Given the description of an element on the screen output the (x, y) to click on. 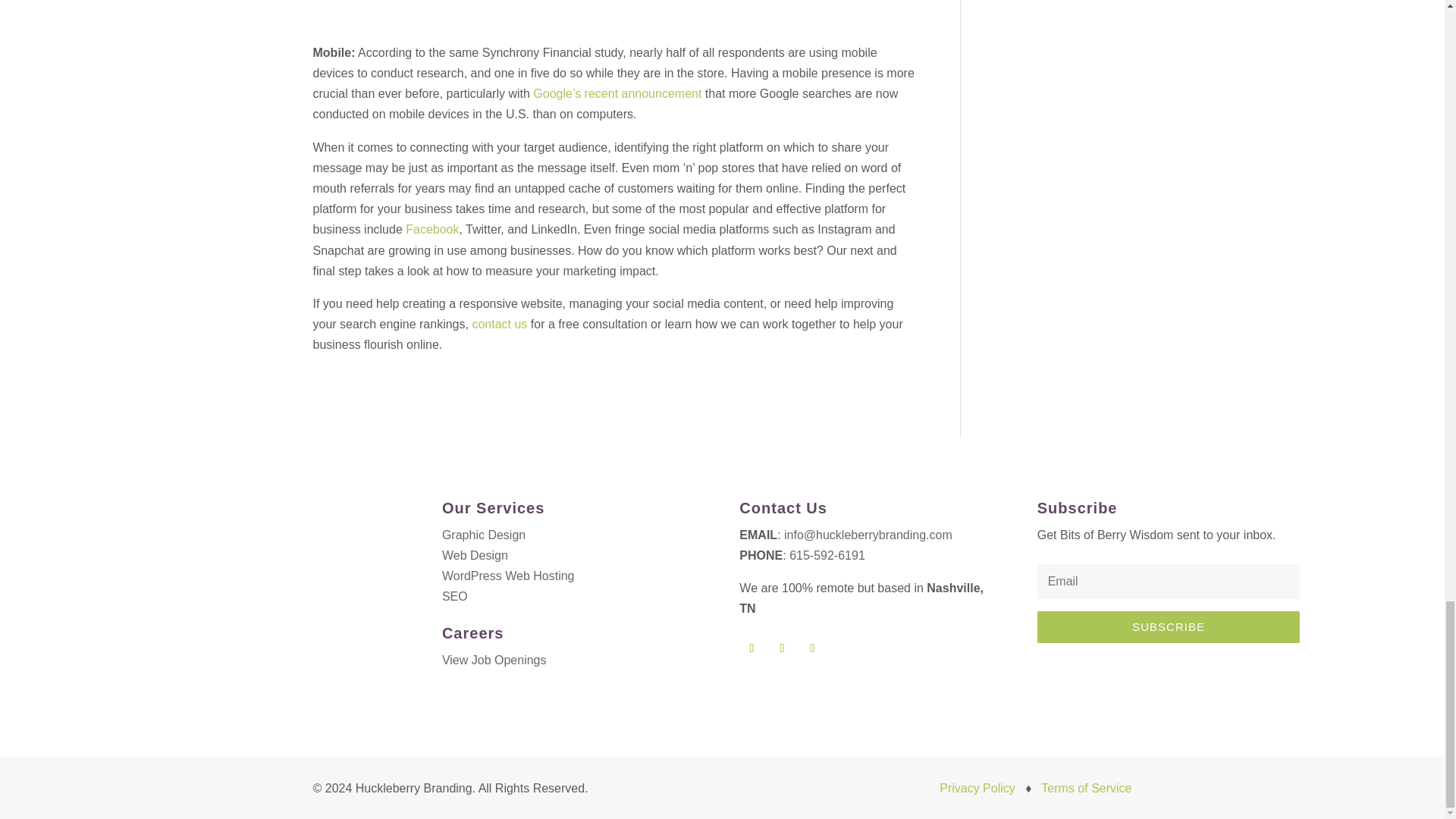
Huckleberry logo animation (242, 597)
Follow on Instagram (750, 648)
Follow on Facebook (781, 648)
Follow on LinkedIn (811, 648)
contact us (499, 323)
Facebook (432, 228)
